Given the description of an element on the screen output the (x, y) to click on. 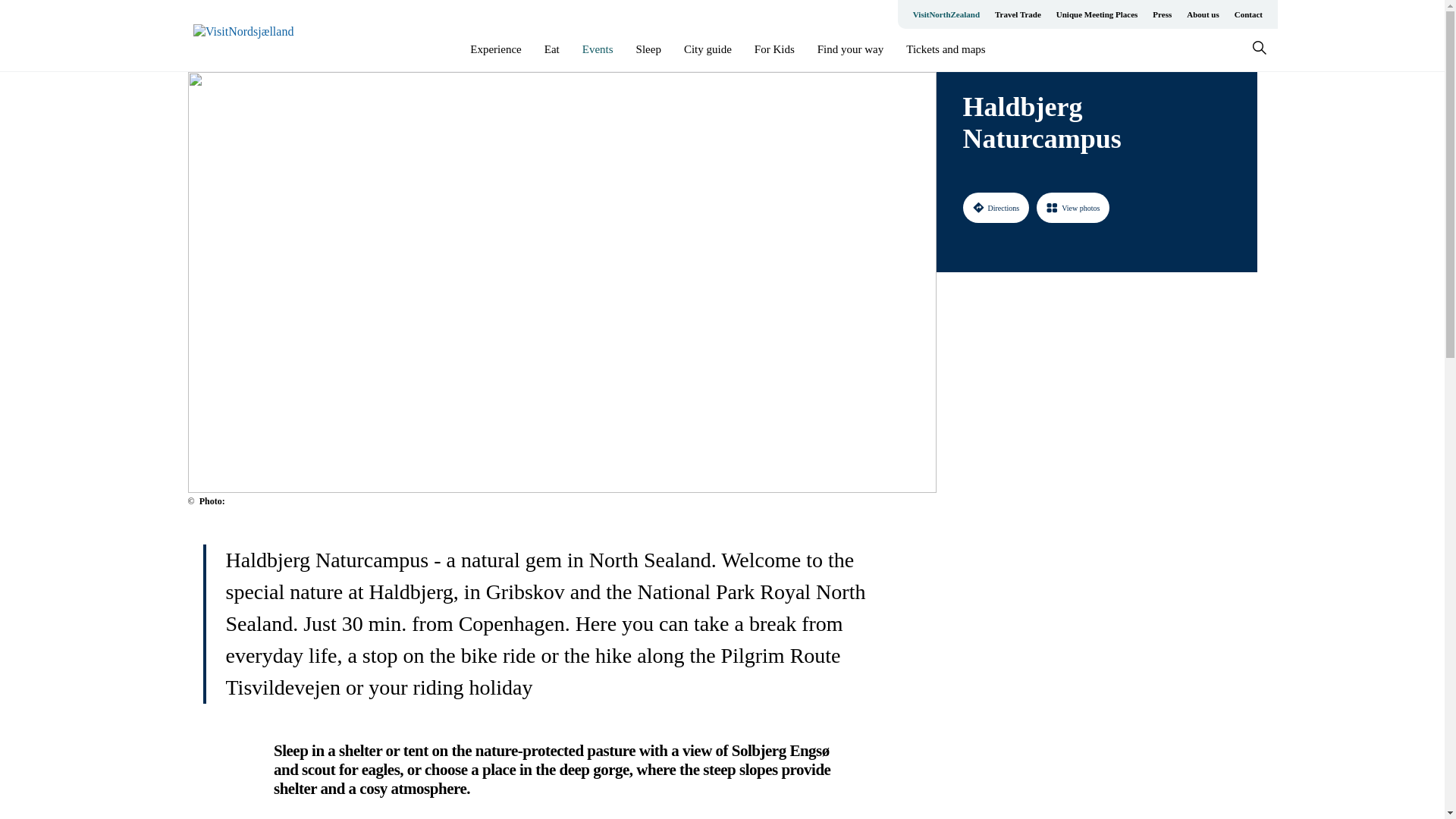
Go to homepage (253, 35)
VisitNorthZealand (946, 14)
City guide (708, 49)
Tickets and maps (945, 49)
For Kids (774, 49)
Eat (551, 49)
Contact (1248, 14)
Sleep (648, 49)
Events (597, 49)
About us (1203, 14)
Travel Trade (1017, 14)
View photos (1072, 207)
Experience (495, 49)
Find your way (849, 49)
Unique Meeting Places (1096, 14)
